Given the description of an element on the screen output the (x, y) to click on. 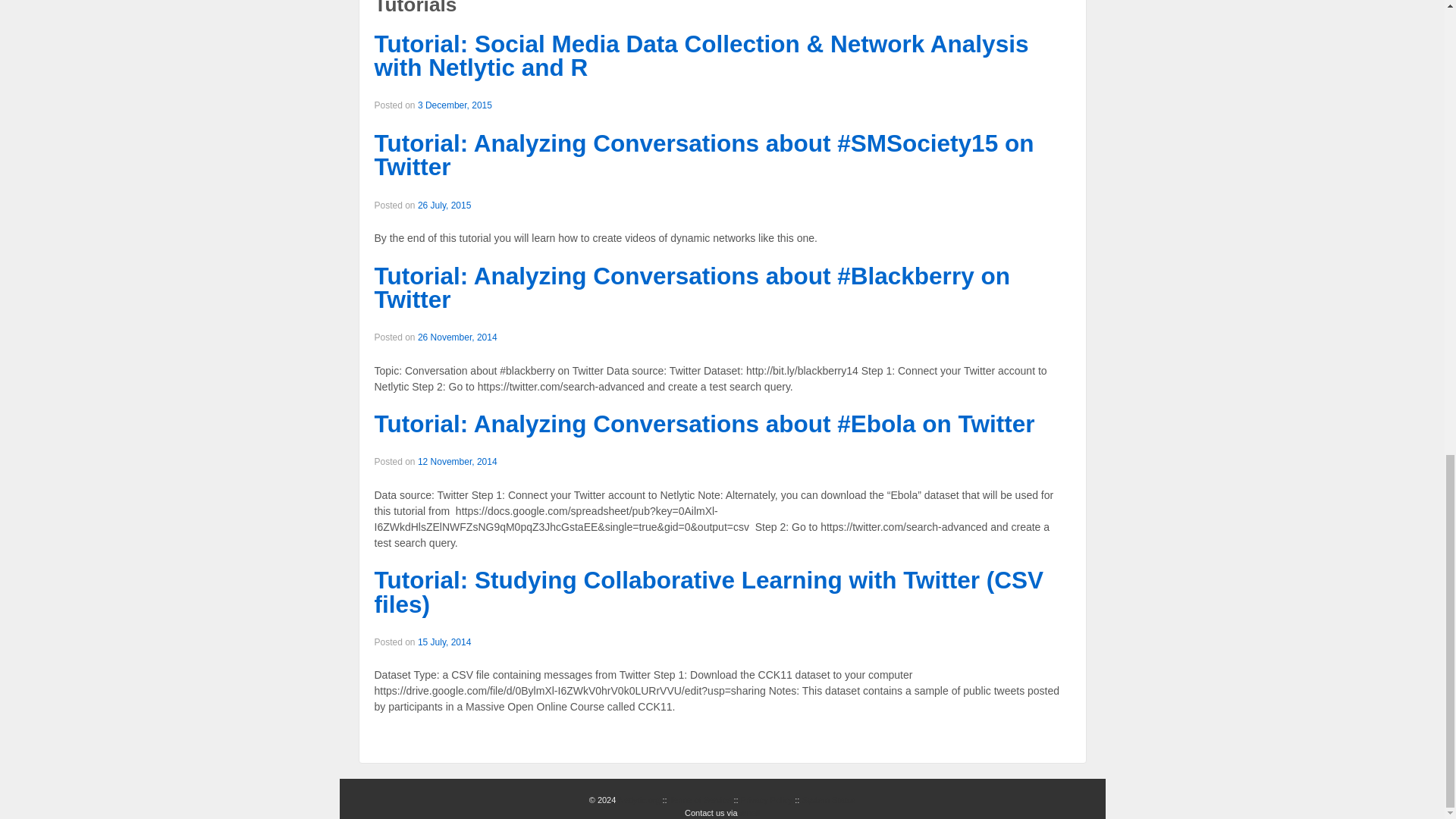
Netlytic.org (638, 799)
